Given the description of an element on the screen output the (x, y) to click on. 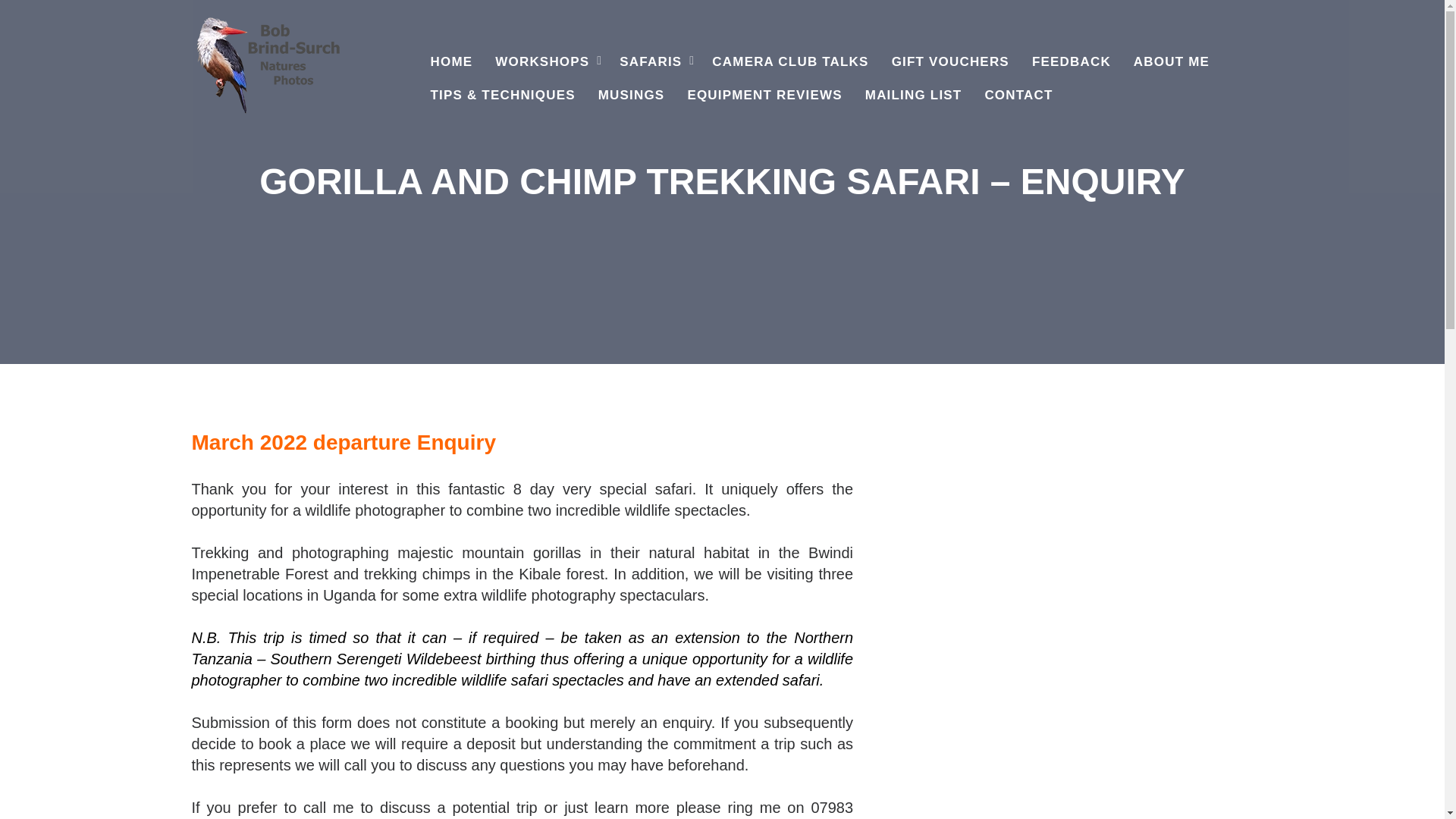
EQUIPMENT REVIEWS (764, 95)
CAMERA CLUB TALKS (789, 61)
MUSINGS (631, 95)
MAILING LIST (913, 95)
SAFARIS (654, 61)
HOME (451, 61)
ABOUT ME (1171, 61)
FEEDBACK (1071, 61)
WORKSHOPS (545, 61)
GIFT VOUCHERS (950, 61)
